Given the description of an element on the screen output the (x, y) to click on. 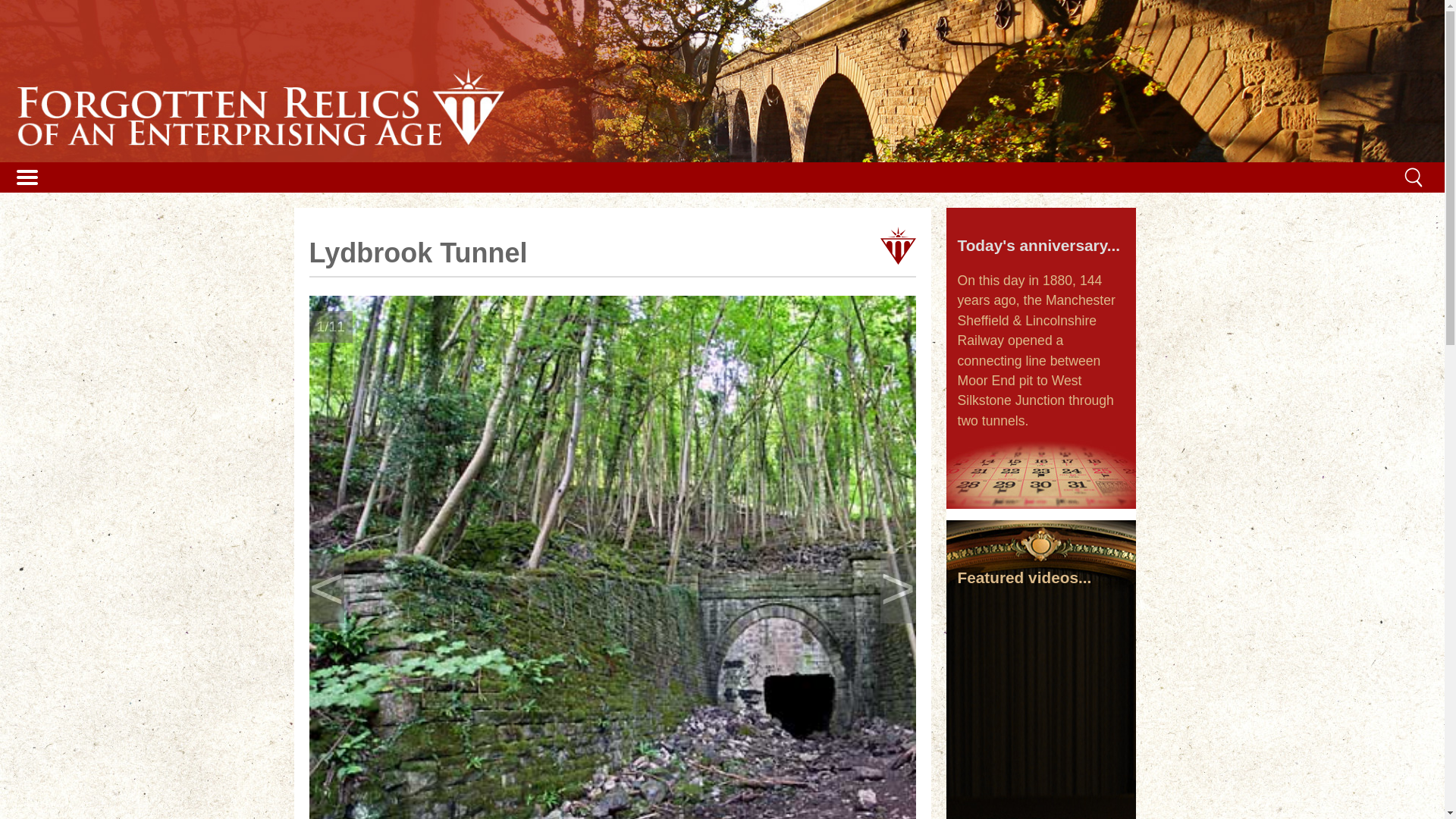
YouTube video player (1040, 648)
YouTube video player (1040, 747)
